Given the description of an element on the screen output the (x, y) to click on. 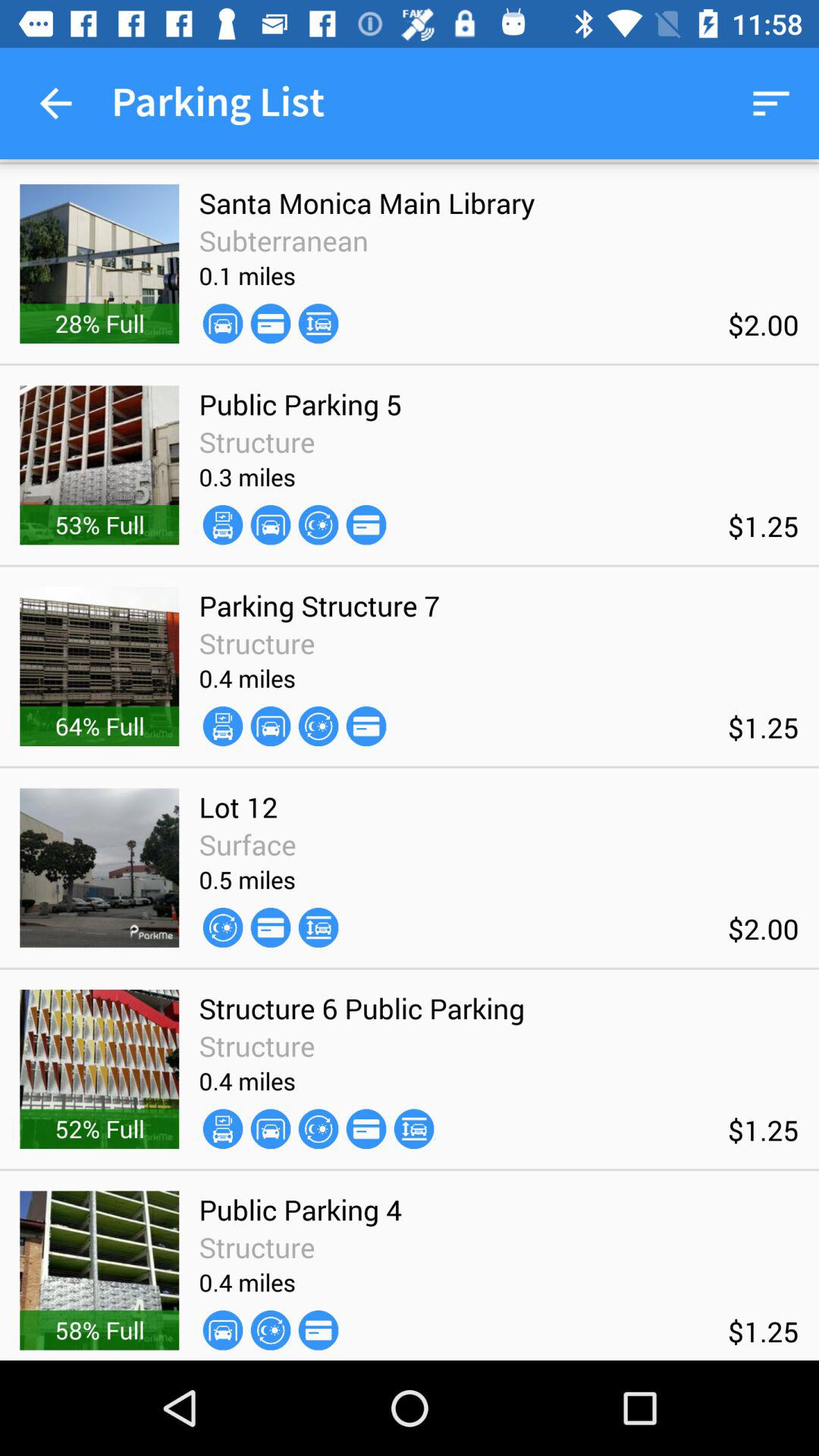
choose the item above the public parking 5 icon (270, 323)
